Given the description of an element on the screen output the (x, y) to click on. 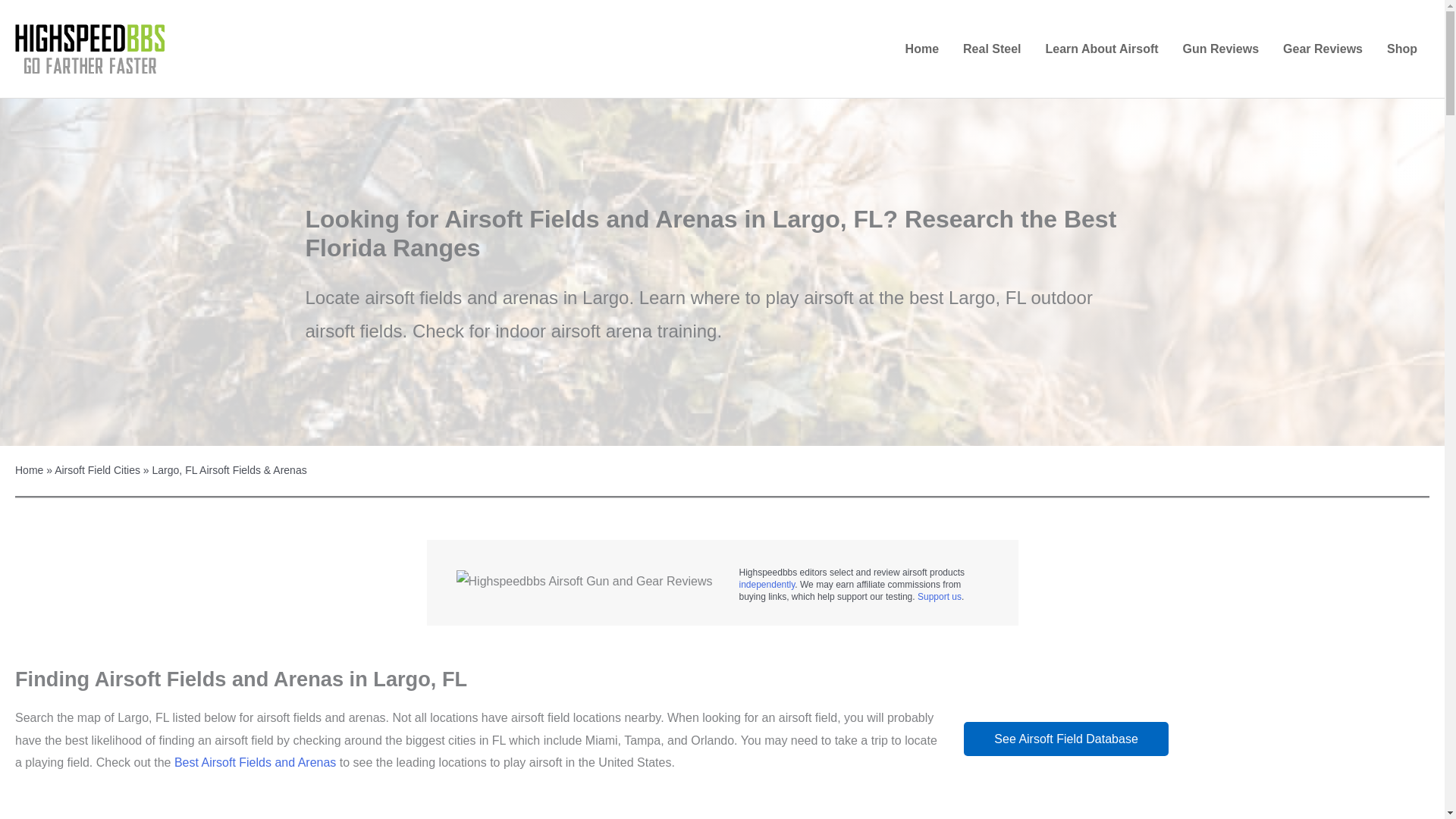
Learn About Airsoft (1101, 49)
Gun Reviews (1220, 49)
Home (921, 49)
Gear Reviews (1322, 49)
Real Steel (991, 49)
